Given the description of an element on the screen output the (x, y) to click on. 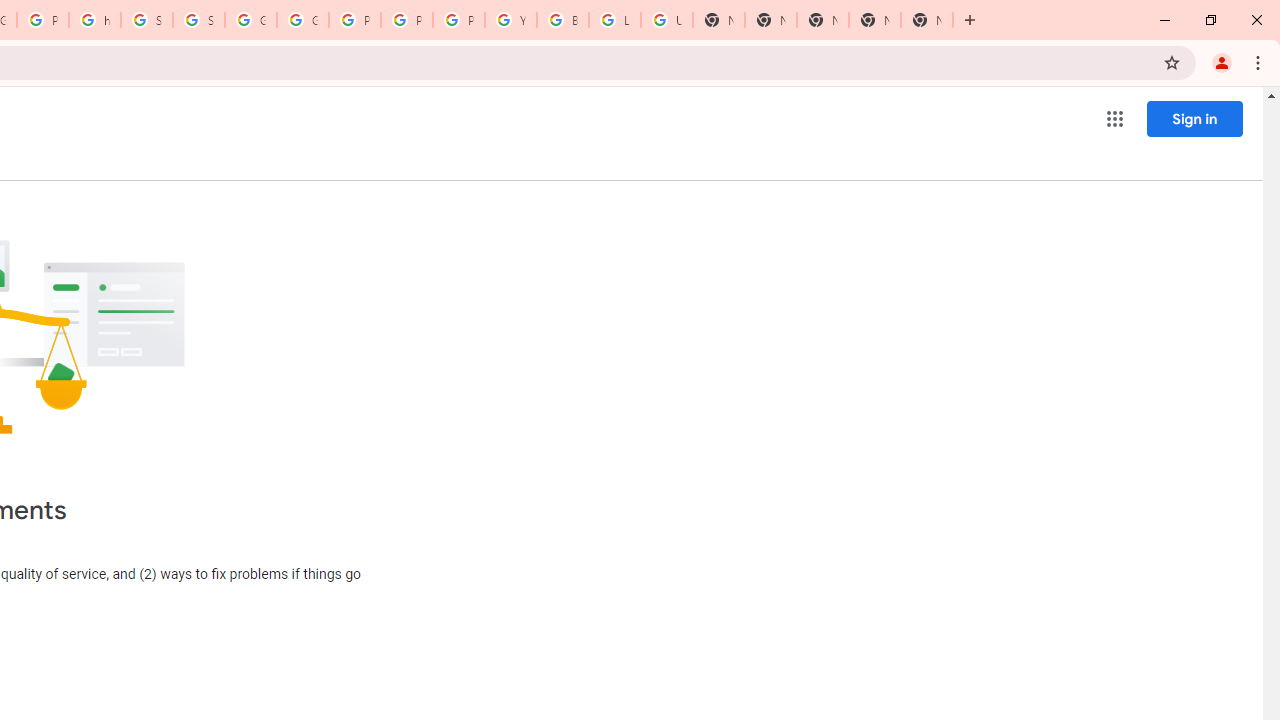
New Tab (927, 20)
New Tab (822, 20)
Sign in - Google Accounts (198, 20)
